Given the description of an element on the screen output the (x, y) to click on. 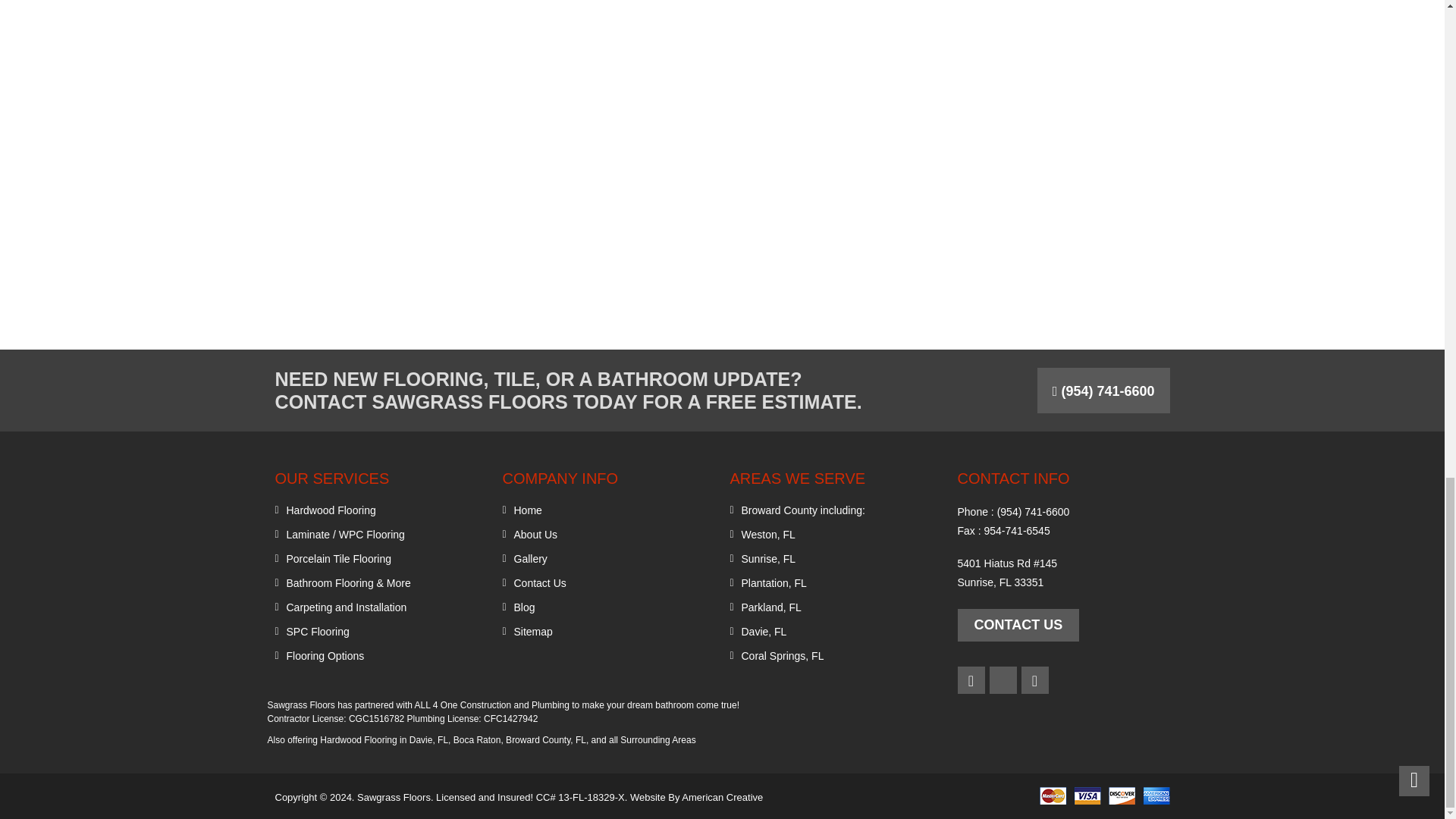
Coral Springs, FL (782, 655)
Hardwood Flooring (330, 509)
Sunrise, FL (768, 558)
CONTACT US (1017, 625)
Broward County including: (802, 509)
Home (527, 509)
Houzz (1034, 679)
Blog (524, 607)
Plantation, FL (773, 582)
Gallery (530, 558)
Carpeting and Installation (346, 607)
About Us (535, 534)
SPC Flooring (317, 631)
Sitemap (533, 631)
Twitter (1002, 679)
